Given the description of an element on the screen output the (x, y) to click on. 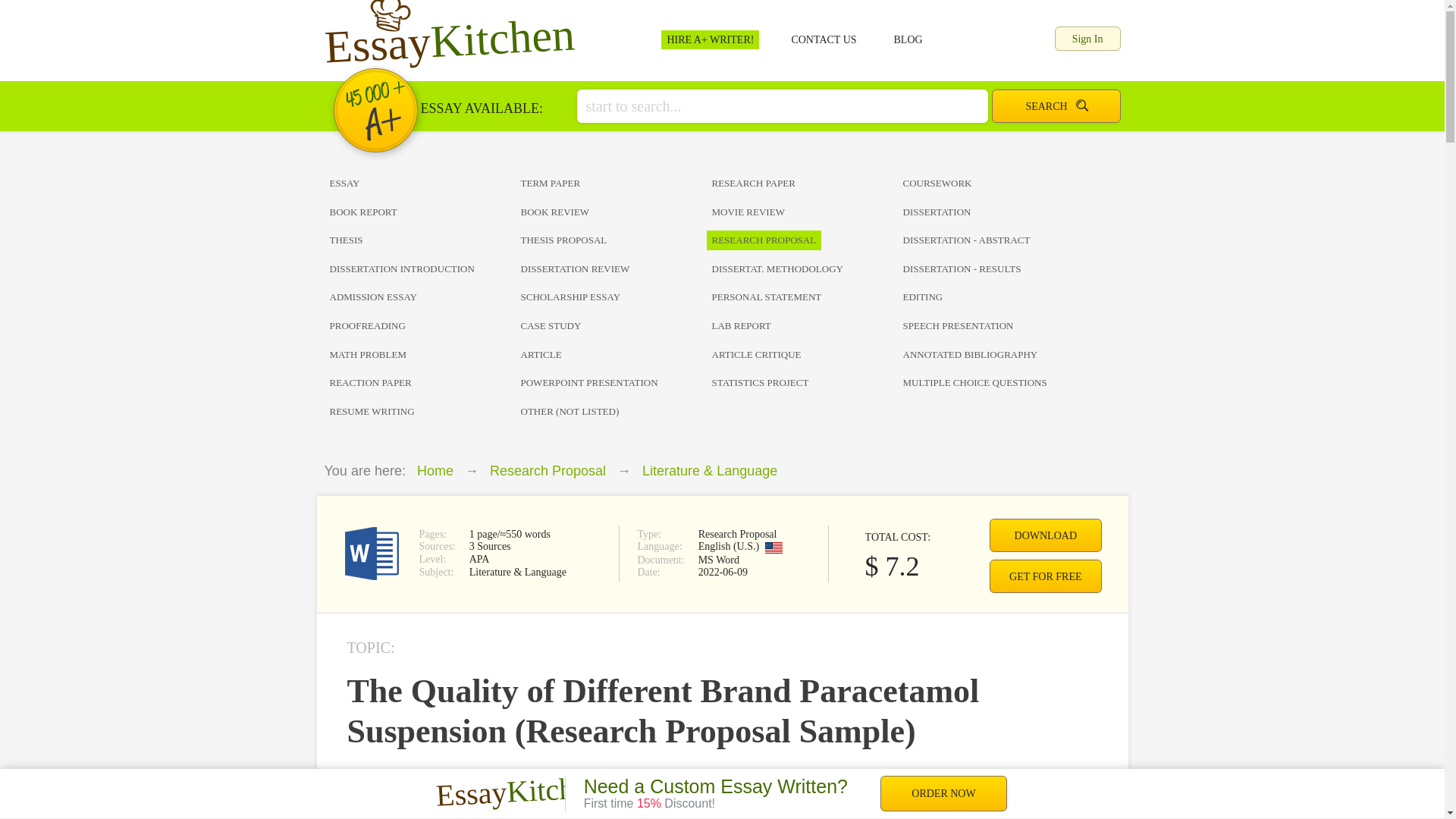
RESEARCH PROPOSAL (802, 240)
MS Word (370, 553)
ADMISSION ESSAY (419, 297)
ANNOTATED BIBLIOGRAPHY (993, 354)
Search (1056, 105)
PERSONAL STATEMENT (802, 297)
Search (1056, 105)
LAB REPORT (802, 326)
MOVIE REVIEW (802, 212)
EDITING (993, 297)
